Given the description of an element on the screen output the (x, y) to click on. 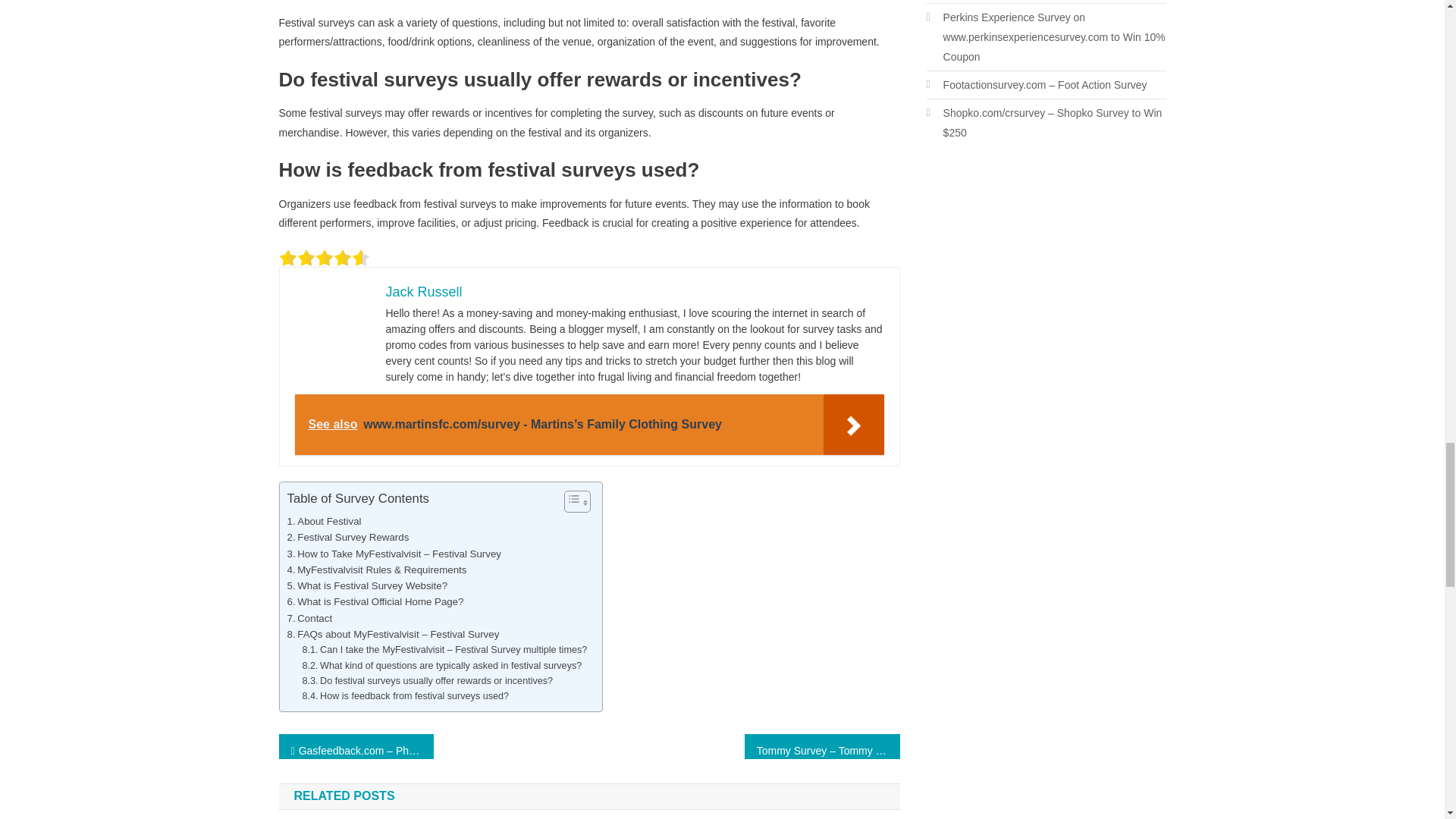
About Festival (323, 521)
Contact (308, 618)
Jack Russell (423, 291)
What is Festival Survey Website? (366, 585)
Do festival surveys usually offer rewards or incentives? (427, 680)
How is feedback from festival surveys used? (404, 695)
What is Festival Official Home Page? (374, 601)
What is Festival  Survey Website? (366, 585)
Festival  Survey Rewards (347, 537)
Festival Survey Rewards (347, 537)
What is Festival Official Home Page? (374, 601)
About Festival (323, 521)
Contact (308, 618)
